Given the description of an element on the screen output the (x, y) to click on. 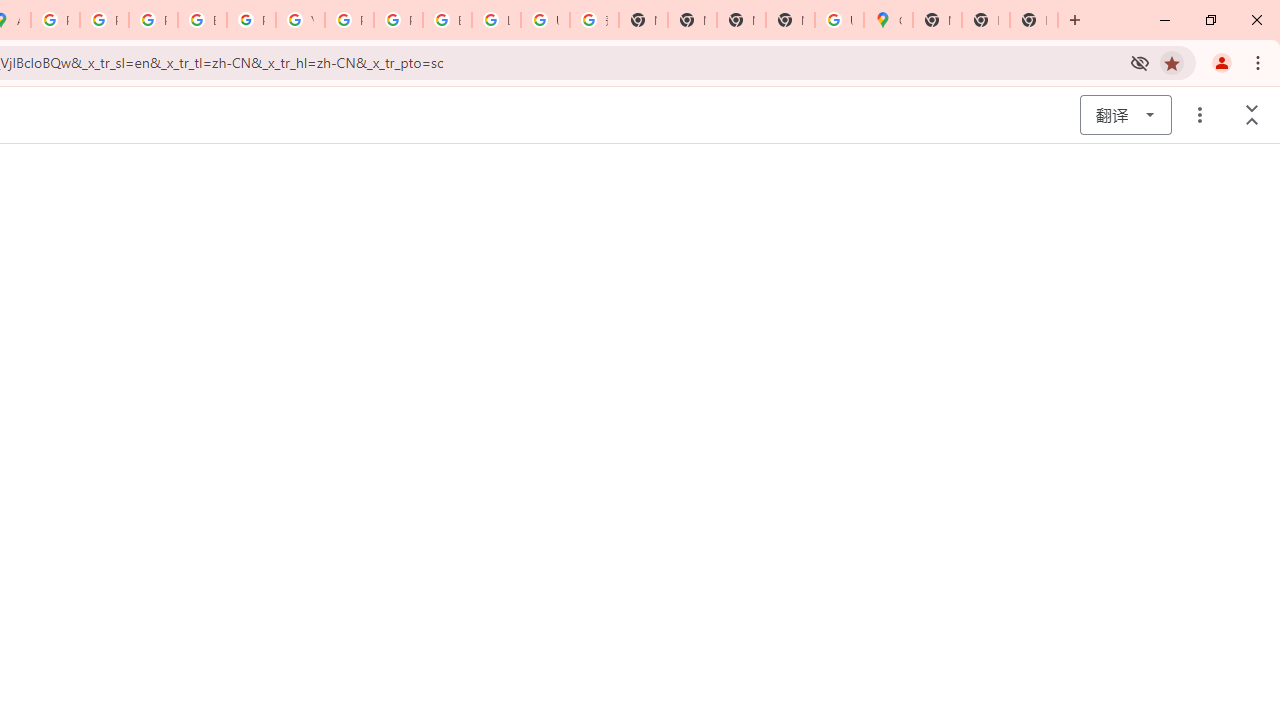
New Tab (790, 20)
Privacy Help Center - Policies Help (104, 20)
New Tab (1033, 20)
Policy Accountability and Transparency - Transparency Center (55, 20)
Use Google Maps in Space - Google Maps Help (839, 20)
Google Maps (888, 20)
Browse Chrome as a guest - Computer - Google Chrome Help (447, 20)
New Tab (937, 20)
